Given the description of an element on the screen output the (x, y) to click on. 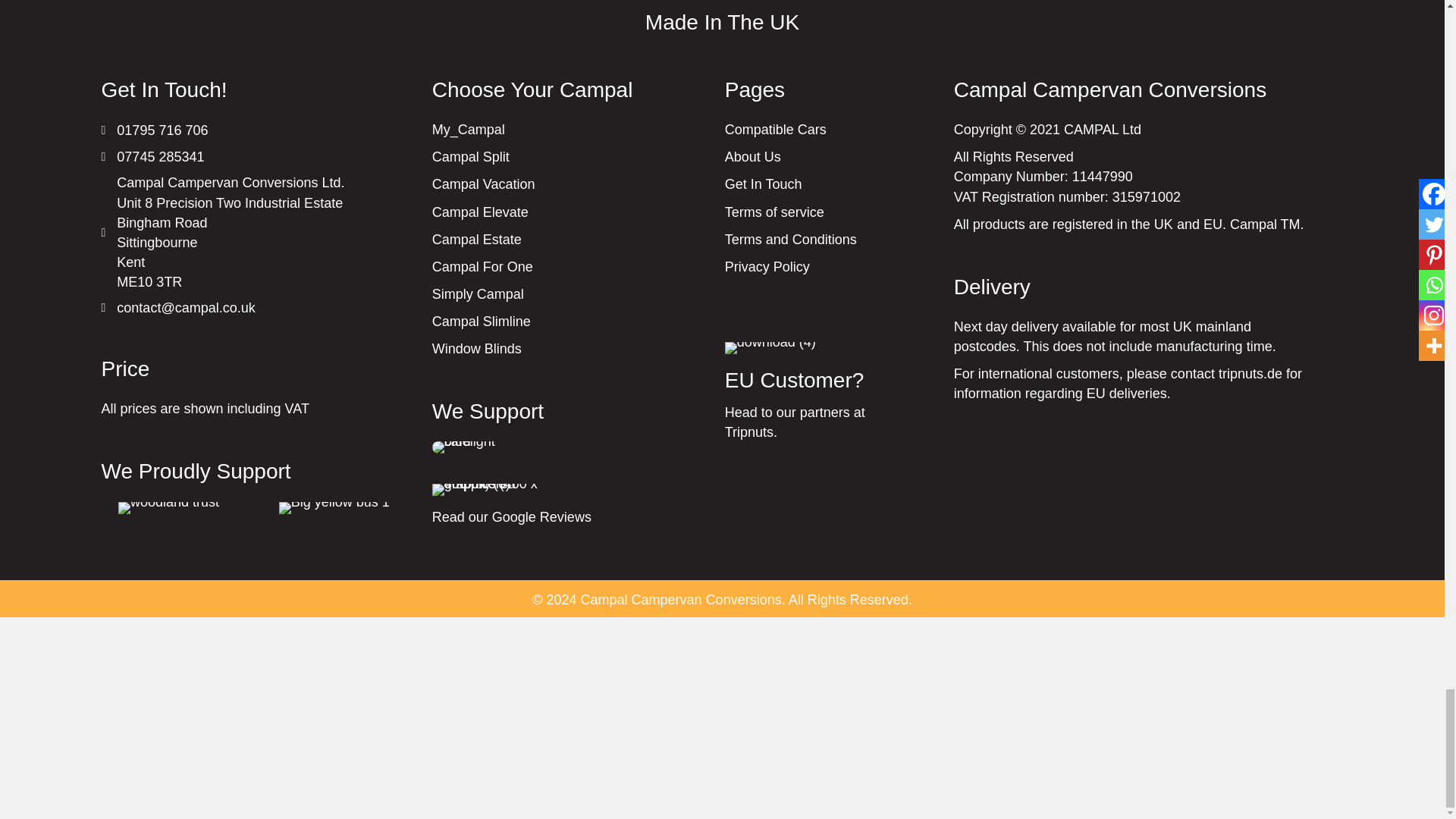
07745 285341 (159, 157)
01795 716 706 (162, 130)
